Given the description of an element on the screen output the (x, y) to click on. 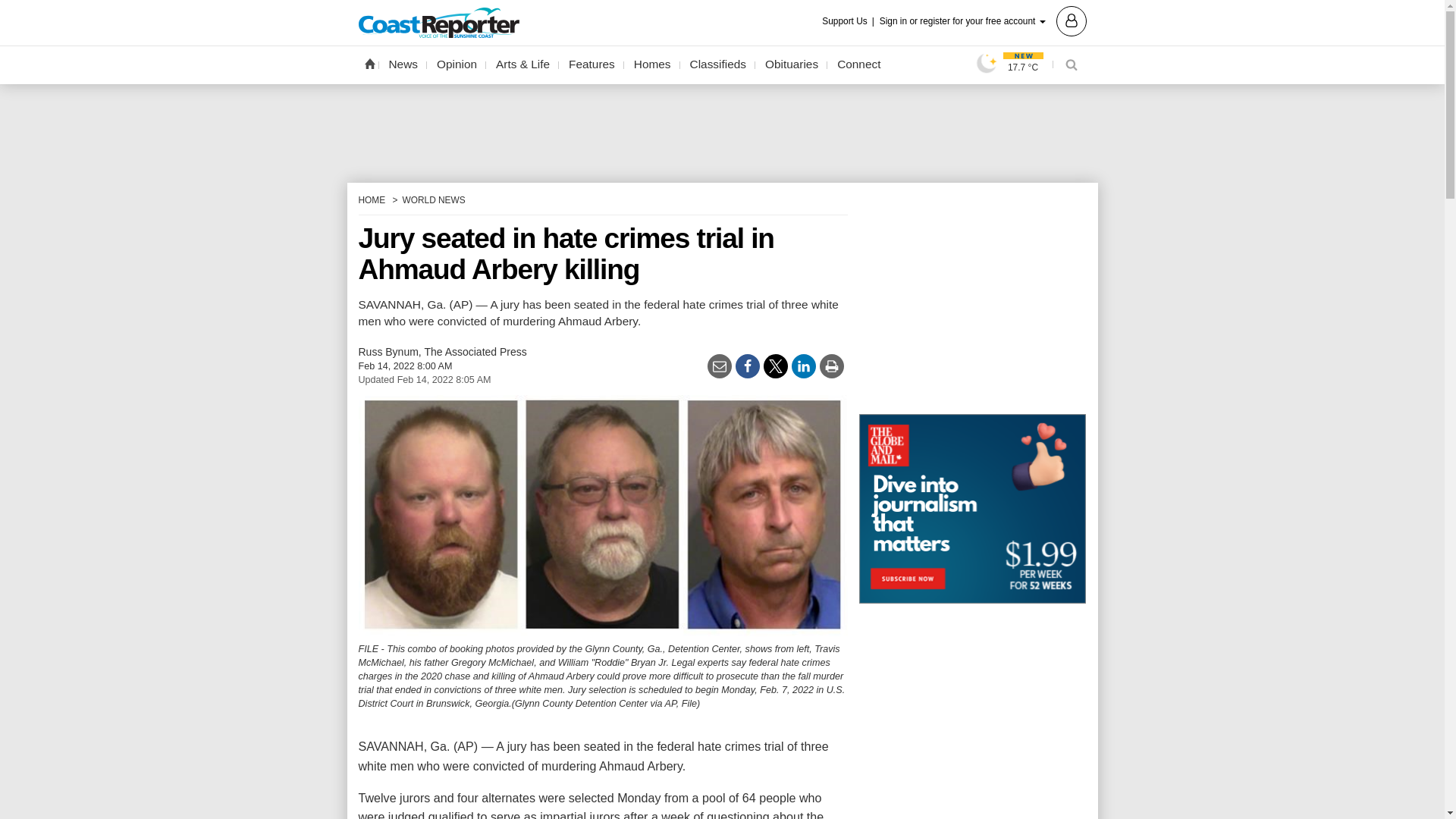
Opinion (456, 64)
Sign in or register for your free account (982, 20)
Home (368, 63)
News (403, 64)
Support Us (849, 21)
